Given the description of an element on the screen output the (x, y) to click on. 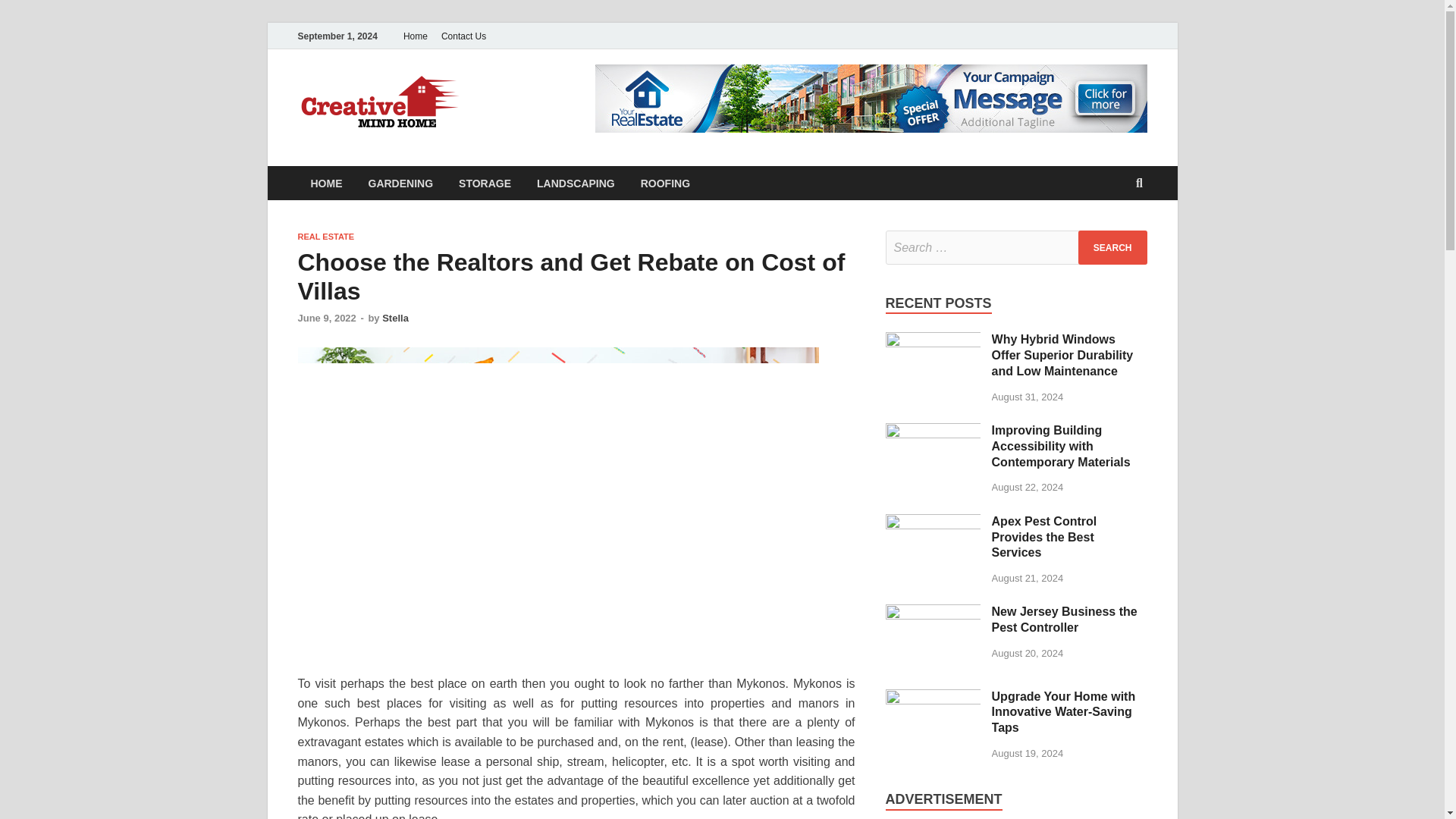
STORAGE (484, 182)
Creative Mind Home (612, 100)
New Jersey Business the Pest Controller  (1064, 619)
Search (1112, 247)
Stella (395, 317)
Search (1112, 247)
Upgrade Your Home with Innovative Water-Saving Taps (932, 697)
Search (1112, 247)
